Given the description of an element on the screen output the (x, y) to click on. 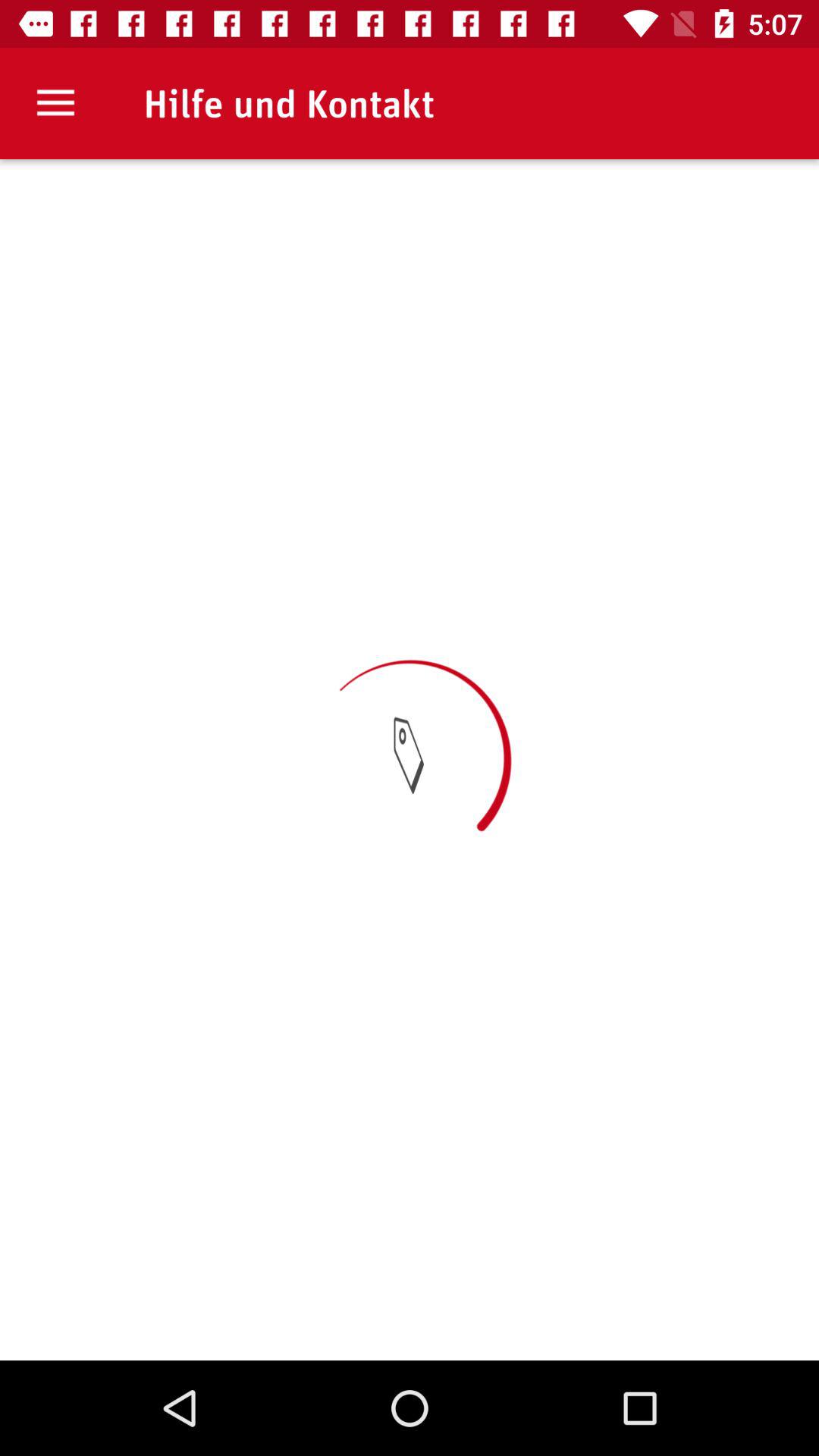
jump until the hilfe und kontakt (288, 103)
